Given the description of an element on the screen output the (x, y) to click on. 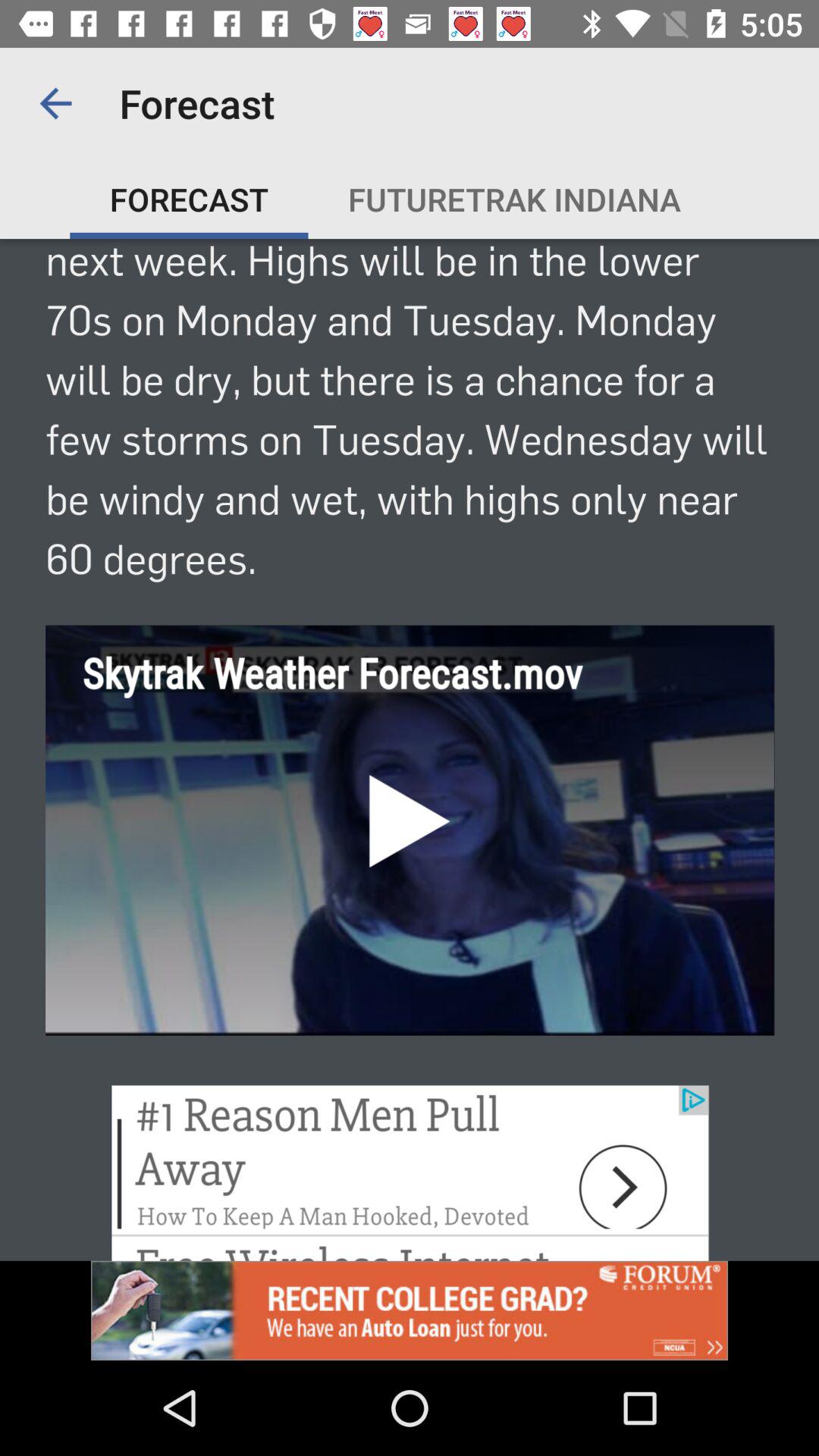
advertisement (409, 1310)
